Given the description of an element on the screen output the (x, y) to click on. 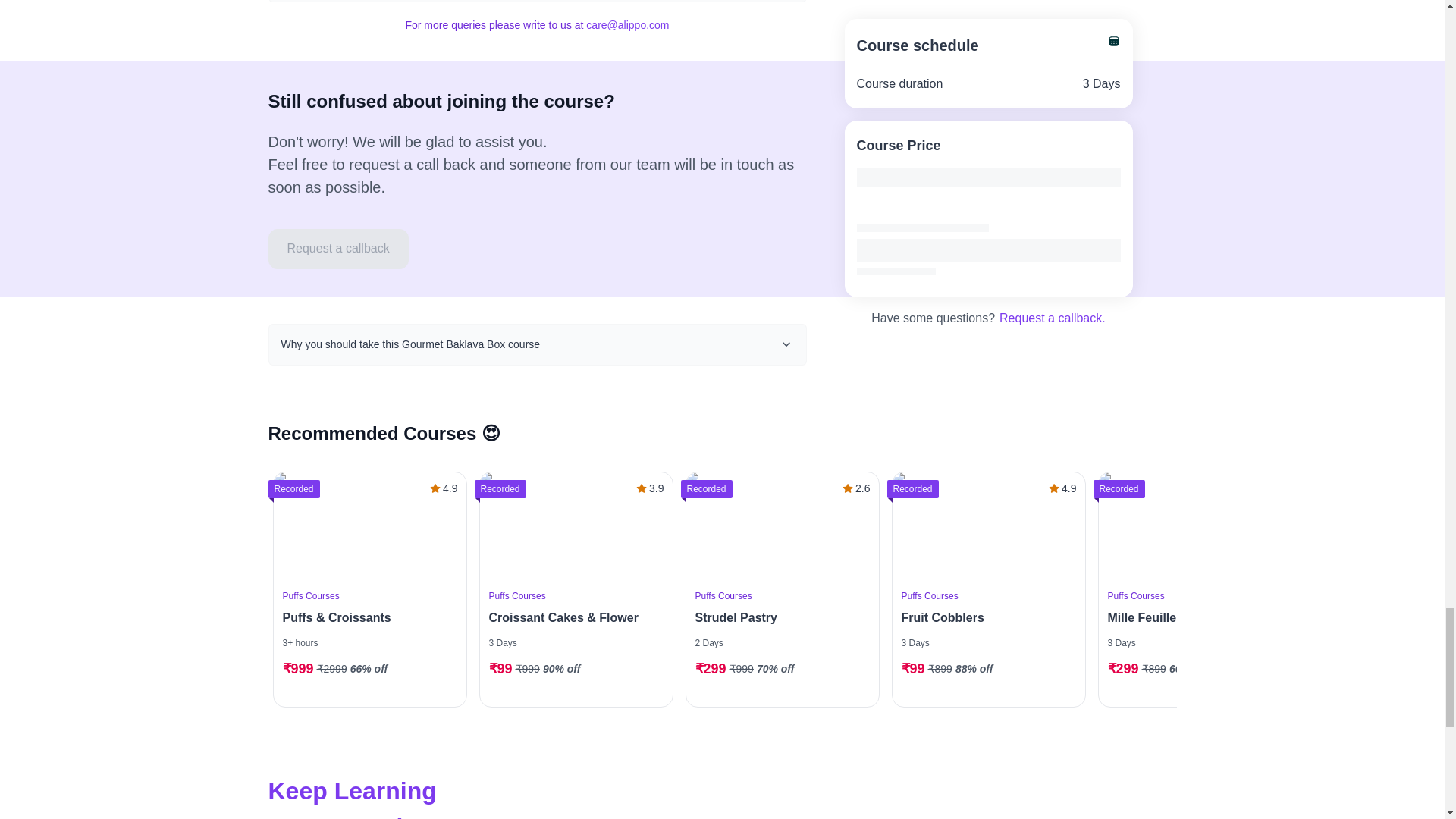
Request a callback (338, 248)
Mille Feuille (1189, 618)
Strudel Pastry (777, 618)
Fruit Cobblers (984, 618)
